Given the description of an element on the screen output the (x, y) to click on. 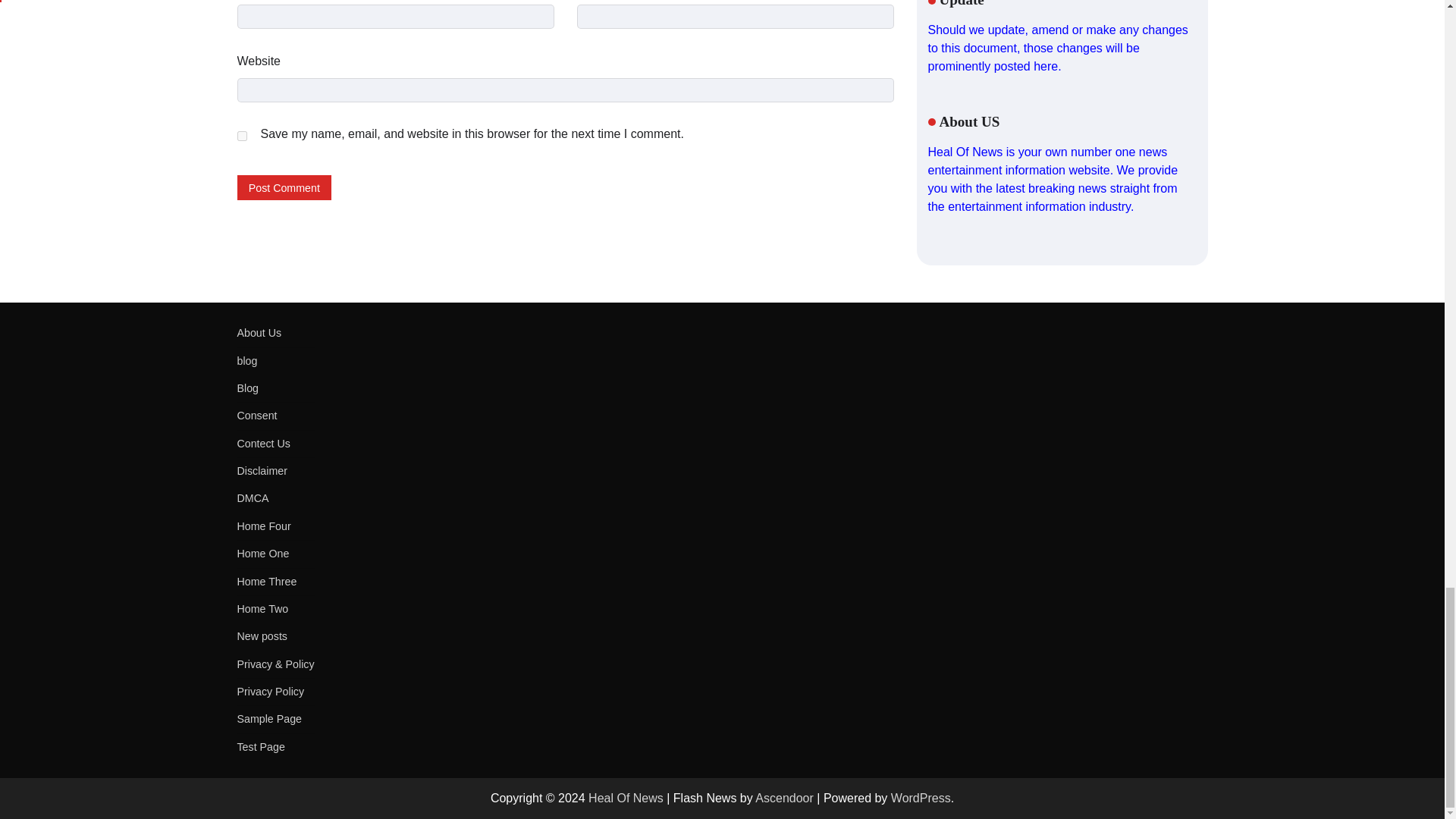
yes (240, 135)
Post Comment (283, 187)
About Us (258, 332)
Consent (255, 415)
Blog (247, 387)
blog (246, 360)
Post Comment (283, 187)
